Given the description of an element on the screen output the (x, y) to click on. 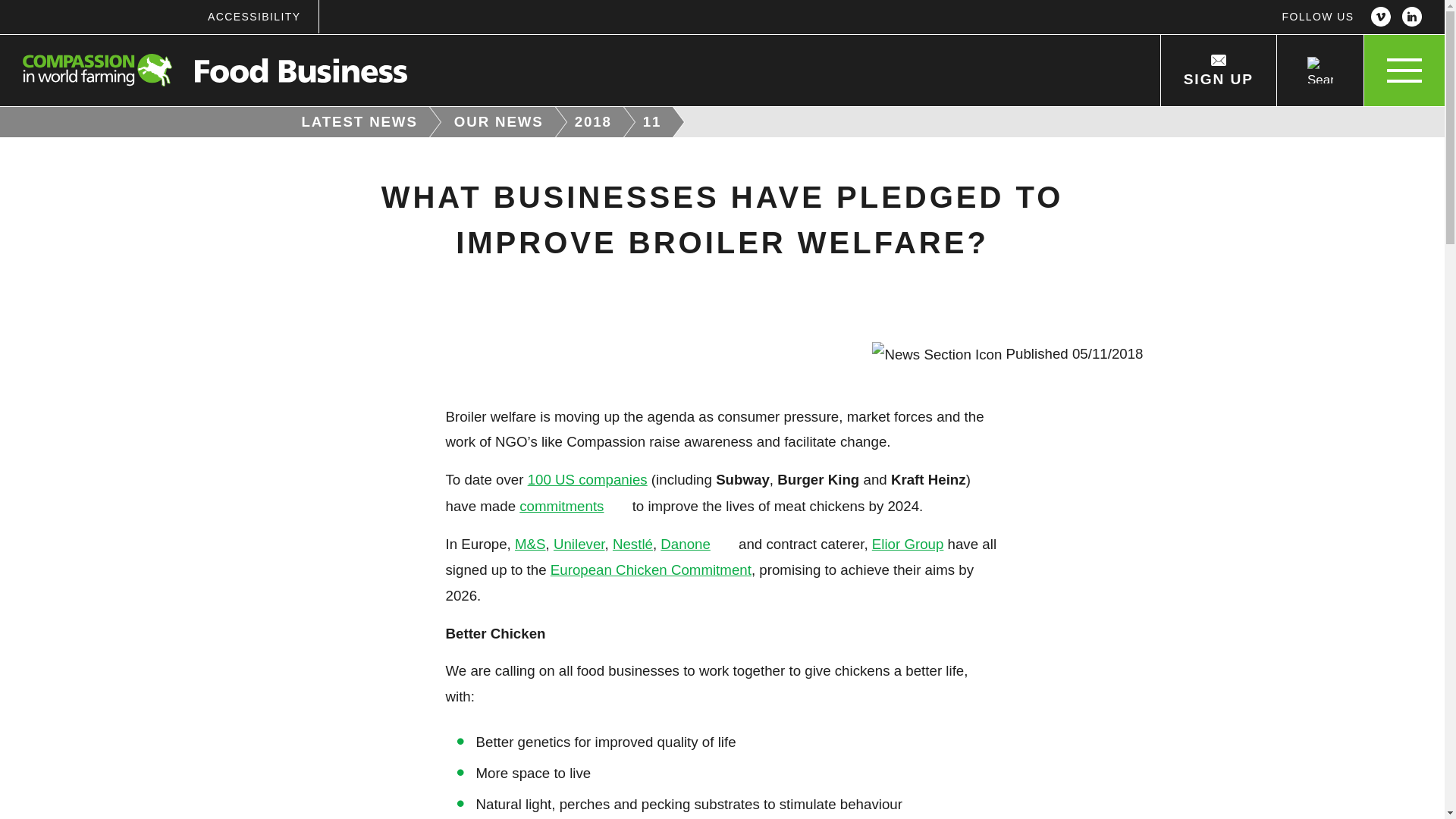
2018 (595, 122)
Unilever - Farm animal welfare (579, 544)
Danone (698, 544)
Animal Welfare Progress Report 2019 (698, 544)
Welfare Commitments - Broiler (587, 479)
Skip to Content (773, 1)
OUR NEWS (500, 122)
11 (654, 122)
commitments (573, 505)
100 US companies (587, 479)
Better Chicken Commitment Letter (573, 505)
ACCESSIBILITY (253, 16)
SIGN UP (1218, 70)
LinkedIn (1412, 16)
European Chicken Commitment Letter (650, 569)
